Given the description of an element on the screen output the (x, y) to click on. 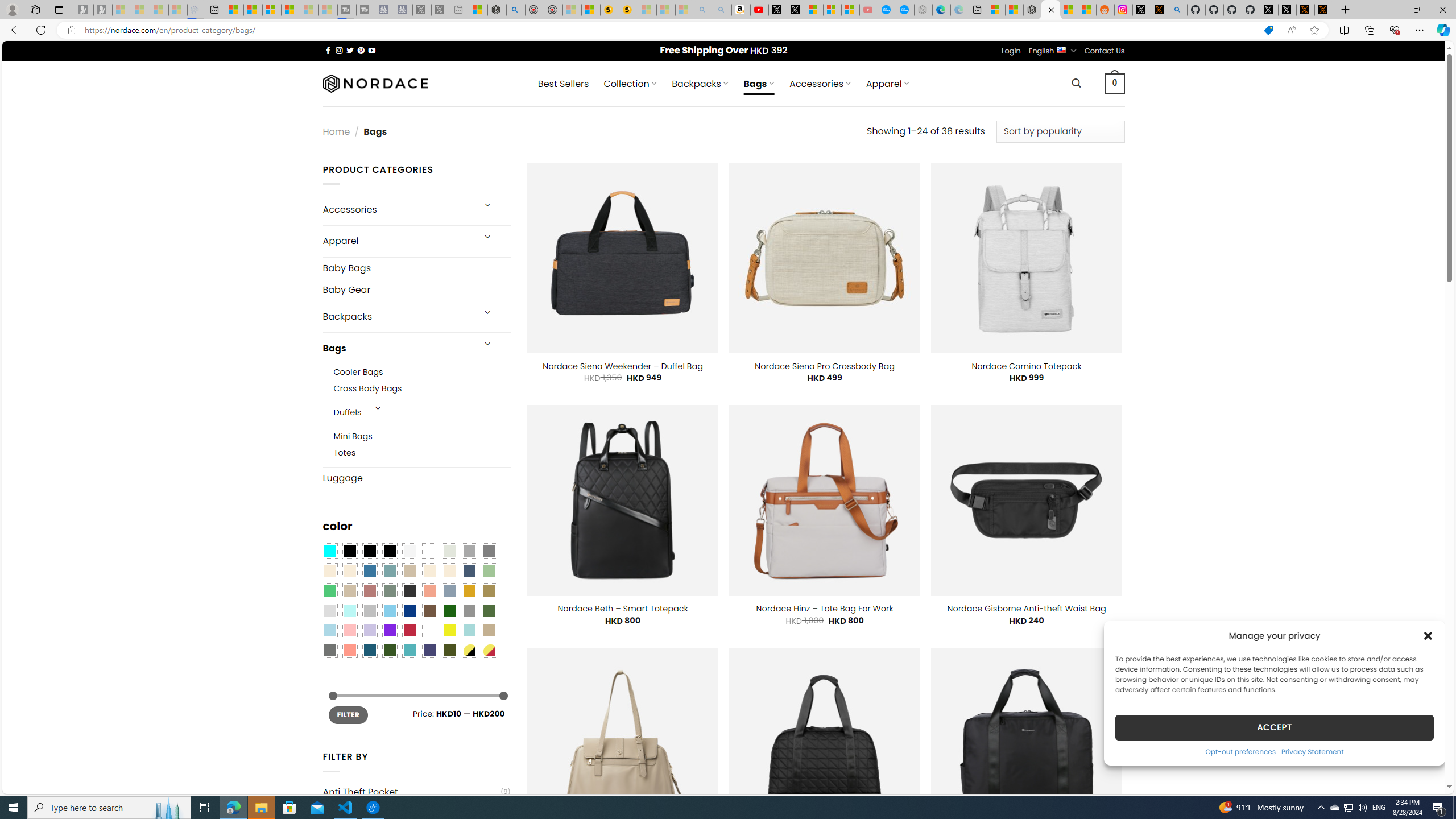
Follow on YouTube (371, 49)
Class: cmplz-close (1428, 635)
Yellow (449, 630)
Read aloud this page (Ctrl+Shift+U) (1291, 29)
Day 1: Arriving in Yemen (surreal to be here) - YouTube (759, 9)
Privacy Statement (1312, 750)
Workspaces (34, 9)
Nordace (374, 83)
Anti Theft Pocket(9) (416, 791)
